Given the description of an element on the screen output the (x, y) to click on. 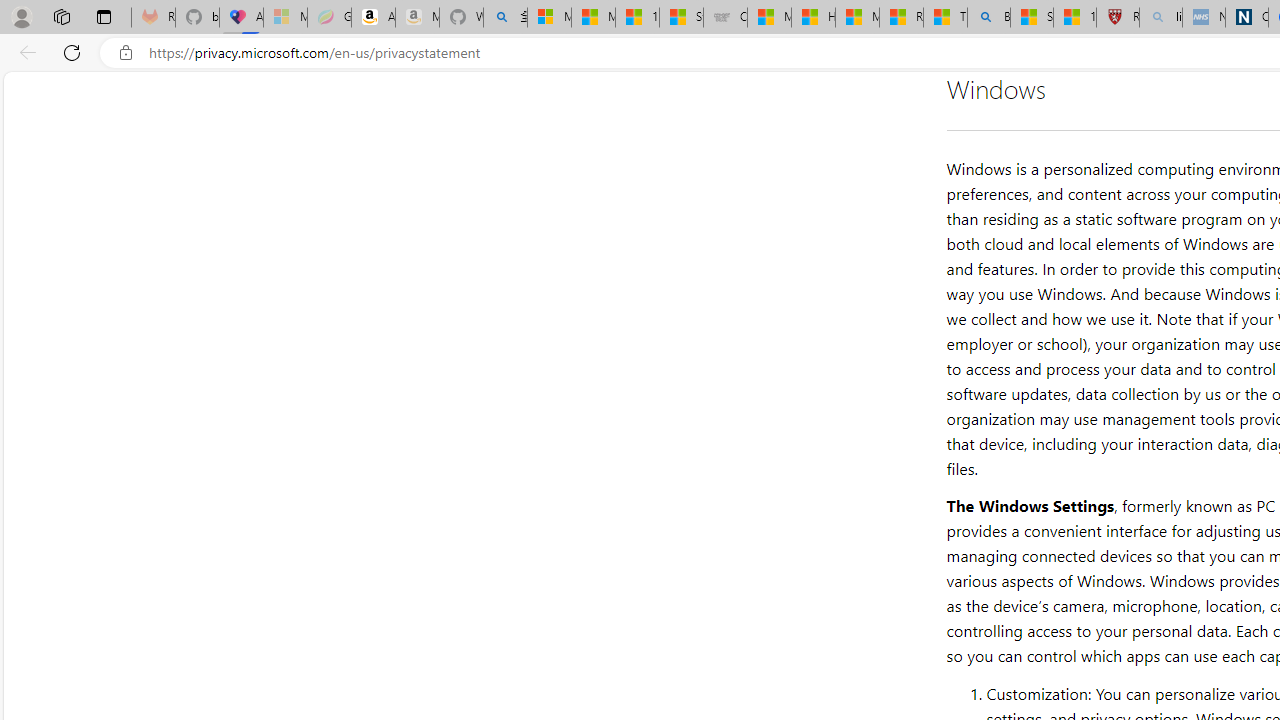
12 Popular Science Lies that Must be Corrected (1074, 17)
Bing (988, 17)
Asthma Inhalers: Names and Types (241, 17)
